Given the description of an element on the screen output the (x, y) to click on. 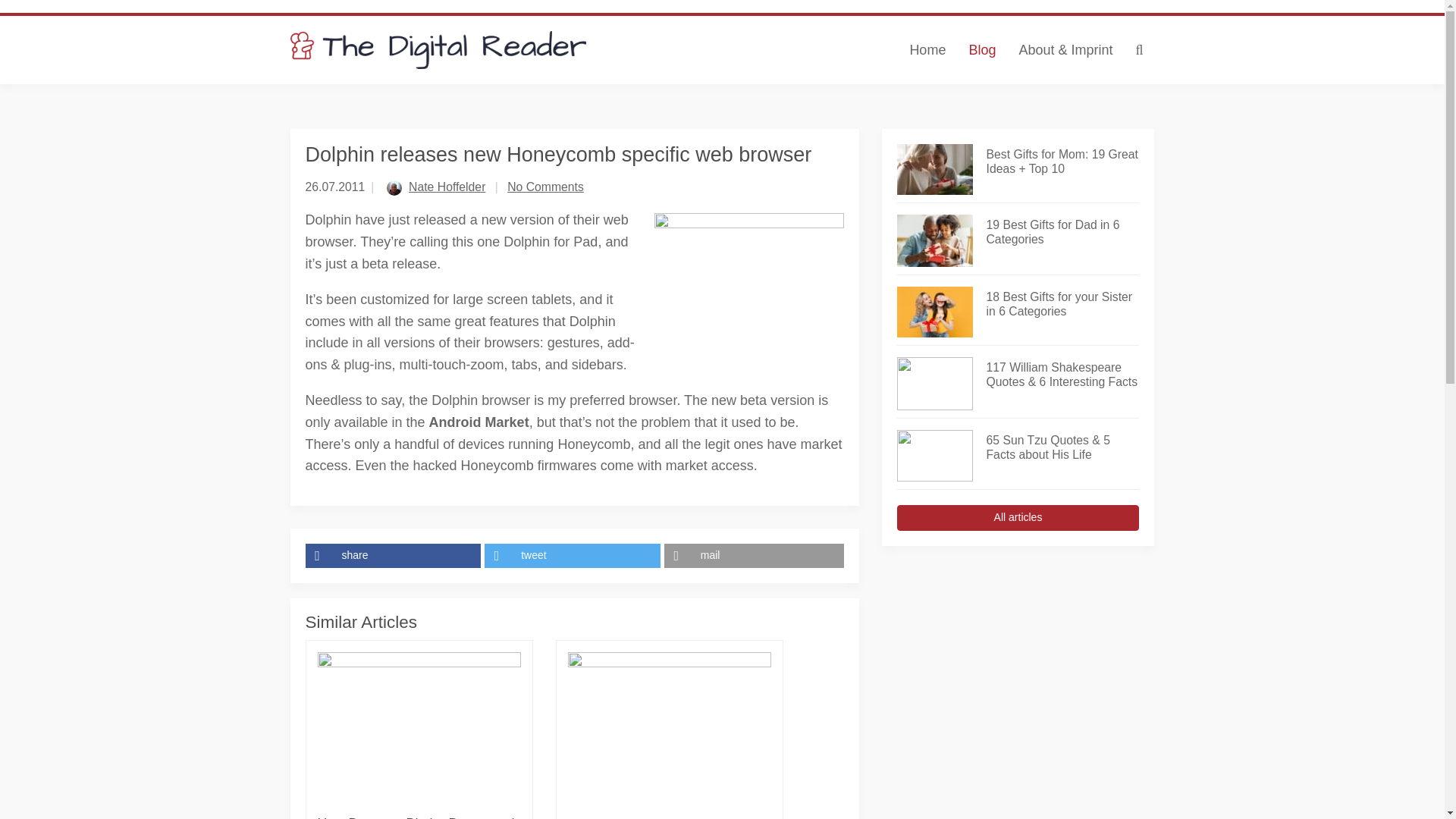
The Digital Reader (437, 49)
dolphin (748, 271)
All articles (1017, 517)
18 Best Gifts for your Sister in 6 Categories (1061, 304)
share (394, 555)
tweet (573, 555)
Home (927, 49)
19 Best Gifts for Dad in 6 Categories (1061, 232)
Nate Hoffelder (446, 186)
